Given the description of an element on the screen output the (x, y) to click on. 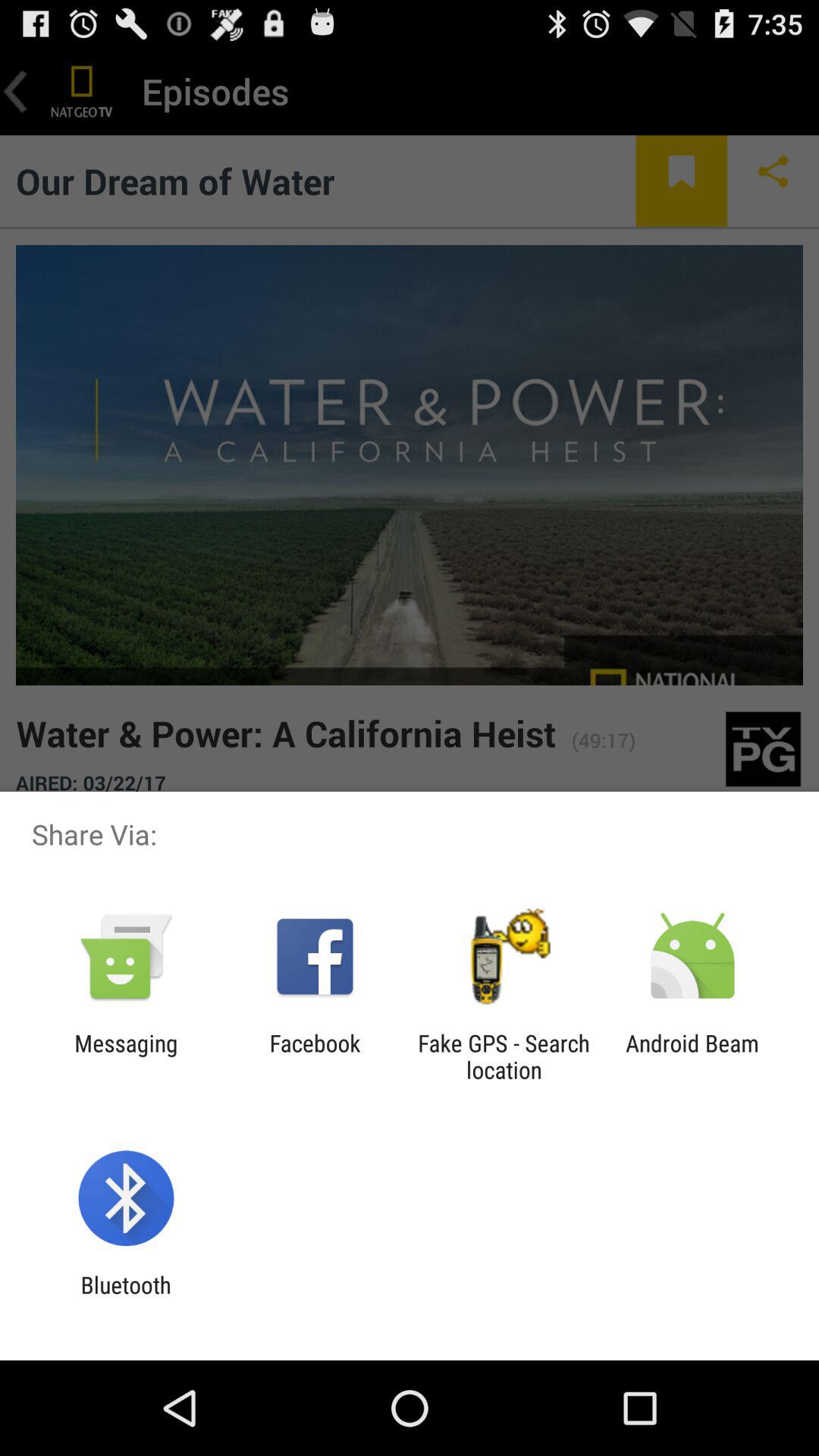
launch android beam icon (692, 1056)
